Given the description of an element on the screen output the (x, y) to click on. 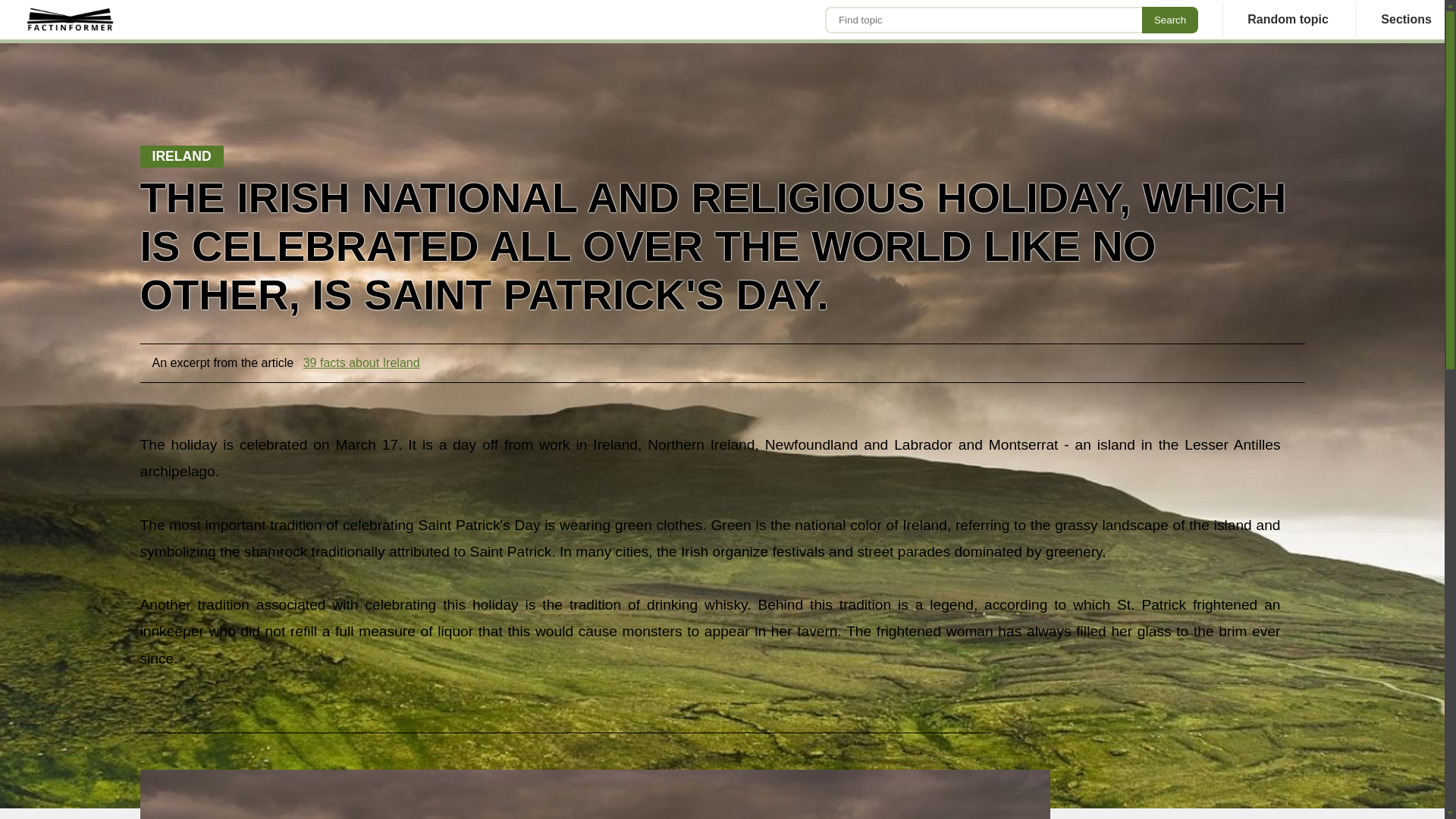
Search (1169, 18)
Random topic (1287, 19)
Search (1169, 18)
39 facts about Ireland (361, 362)
